Given the description of an element on the screen output the (x, y) to click on. 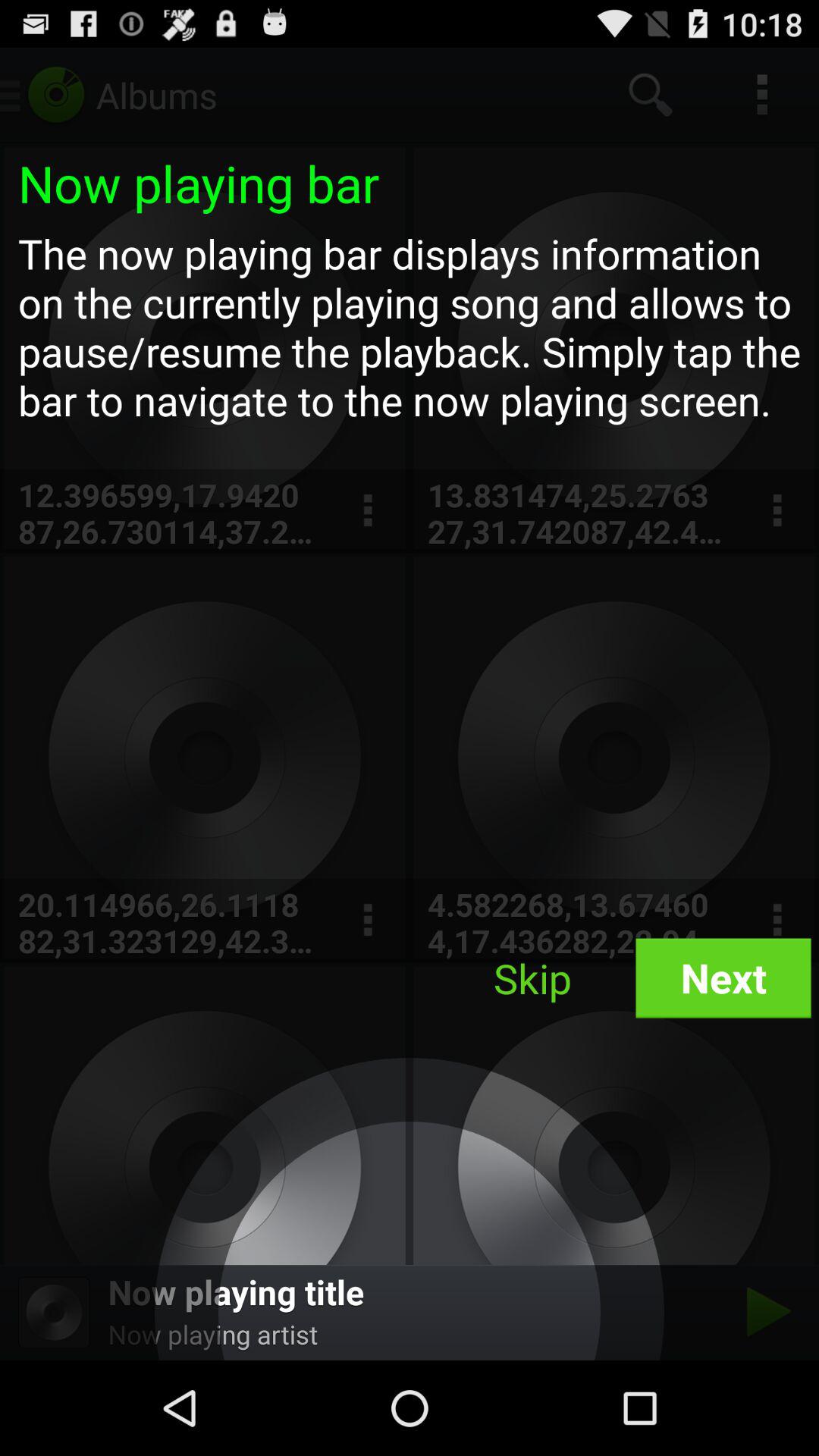
select options (367, 920)
